Given the description of an element on the screen output the (x, y) to click on. 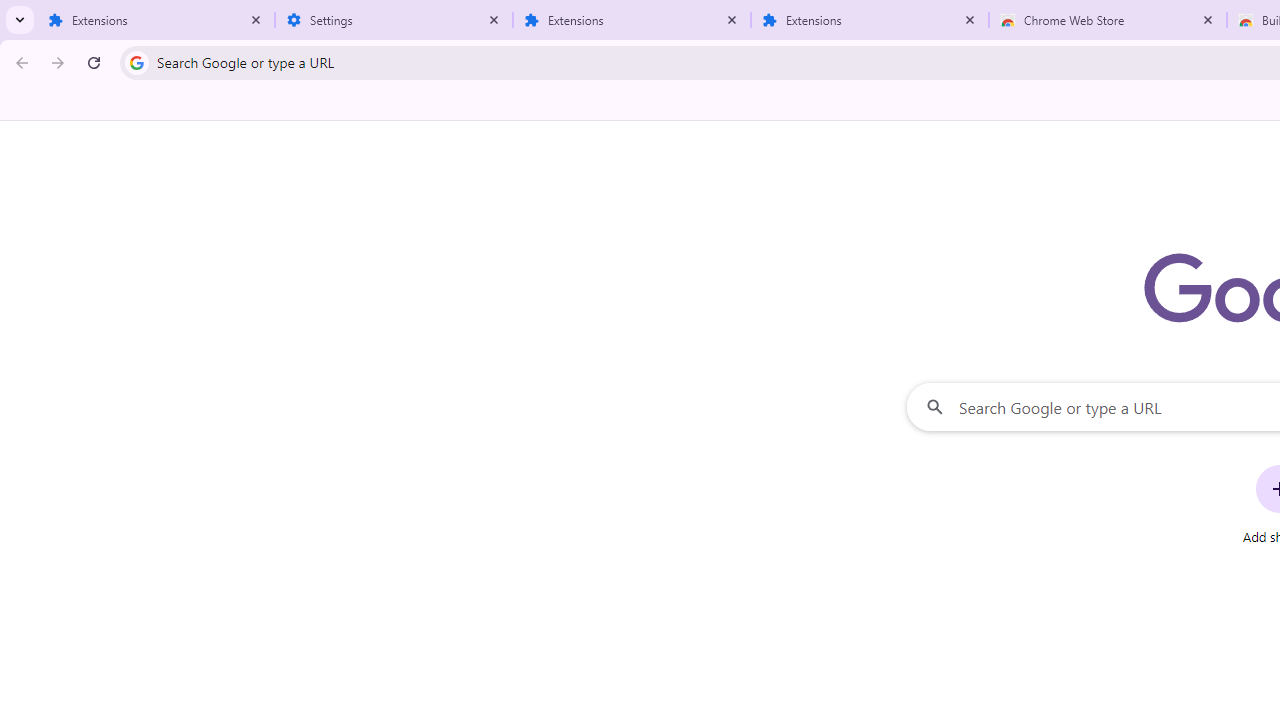
Extensions (870, 20)
Extensions (632, 20)
Settings (394, 20)
Chrome Web Store (1108, 20)
Extensions (156, 20)
